Given the description of an element on the screen output the (x, y) to click on. 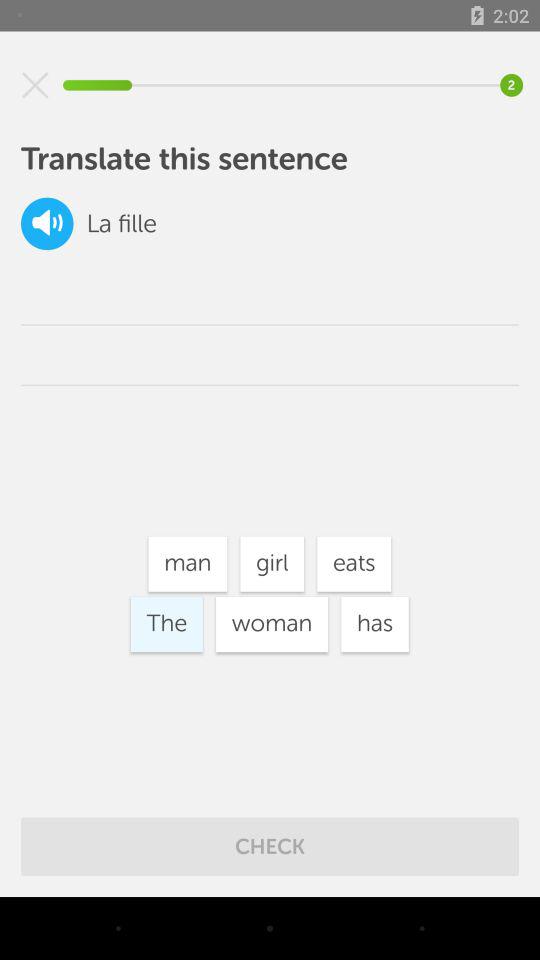
open the icon to the left of girl (187, 563)
